Given the description of an element on the screen output the (x, y) to click on. 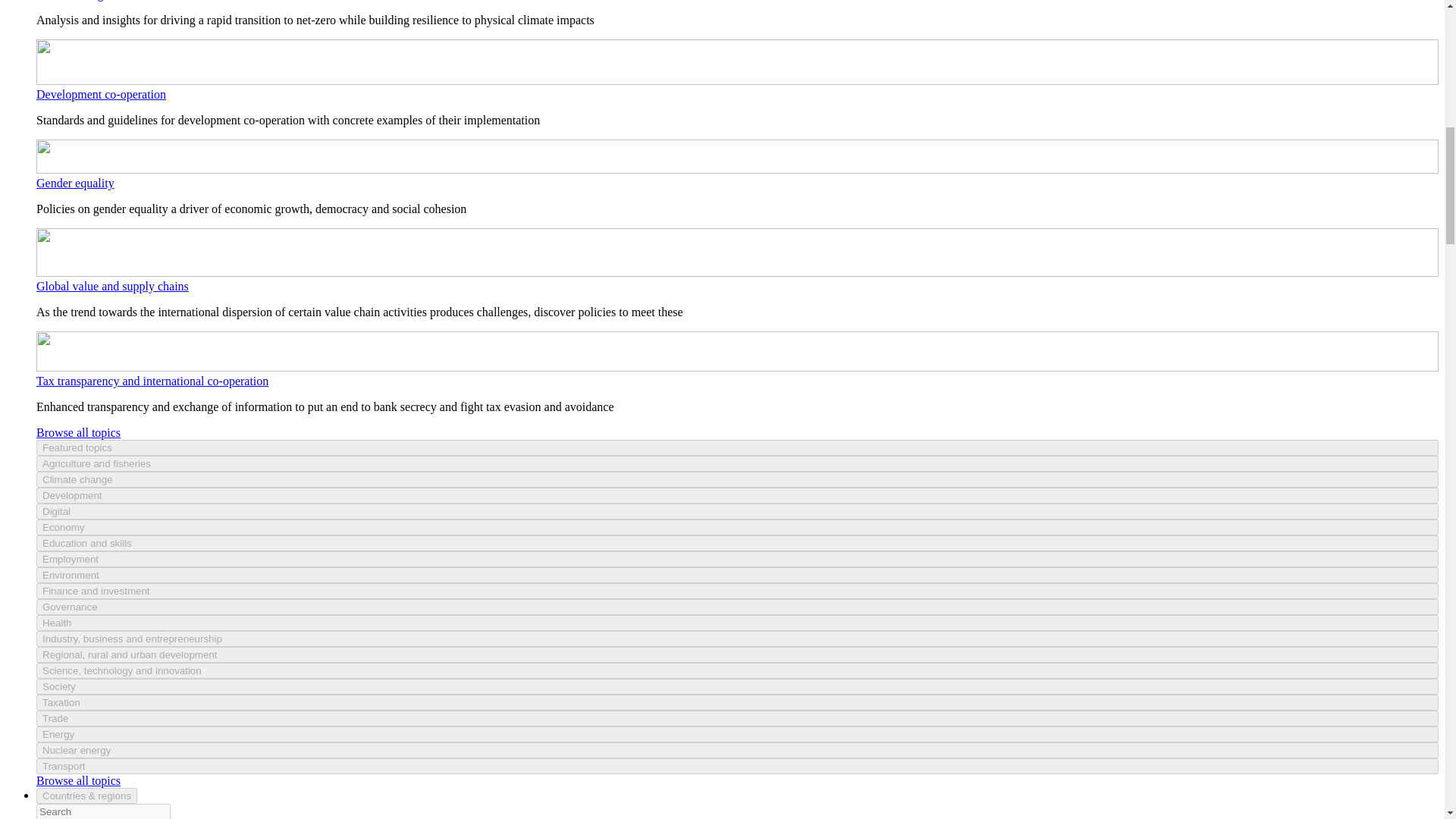
Global value and supply chains (112, 286)
Development co-operation (100, 93)
Gender equality (75, 182)
Tax transparency and international co-operation (151, 380)
